Given the description of an element on the screen output the (x, y) to click on. 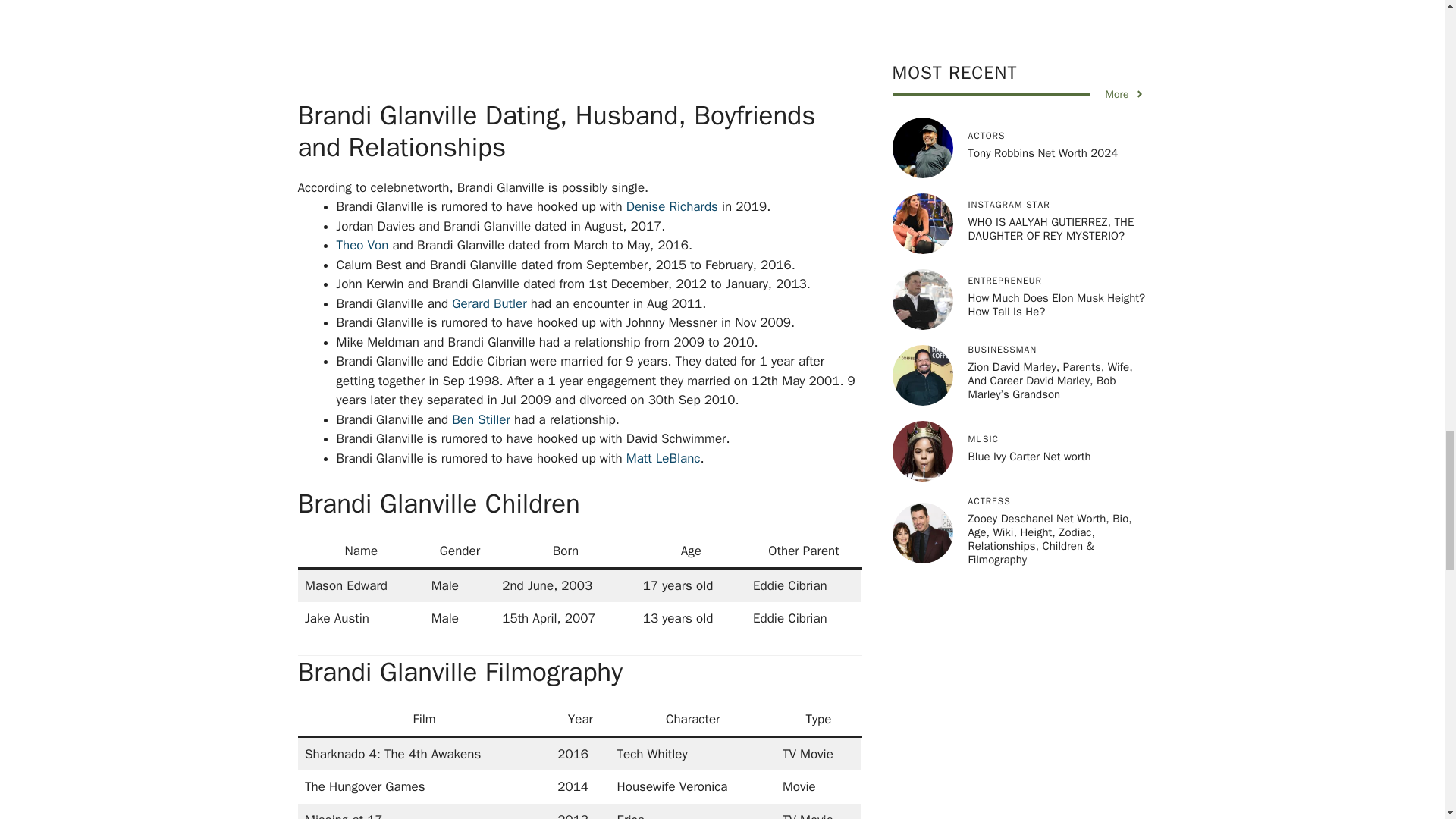
Denise Richards (671, 206)
Theo Von (362, 245)
Ben Stiller (481, 419)
Matt LeBlanc (663, 458)
Gerard Butler (488, 303)
Advertisement (600, 46)
